Given the description of an element on the screen output the (x, y) to click on. 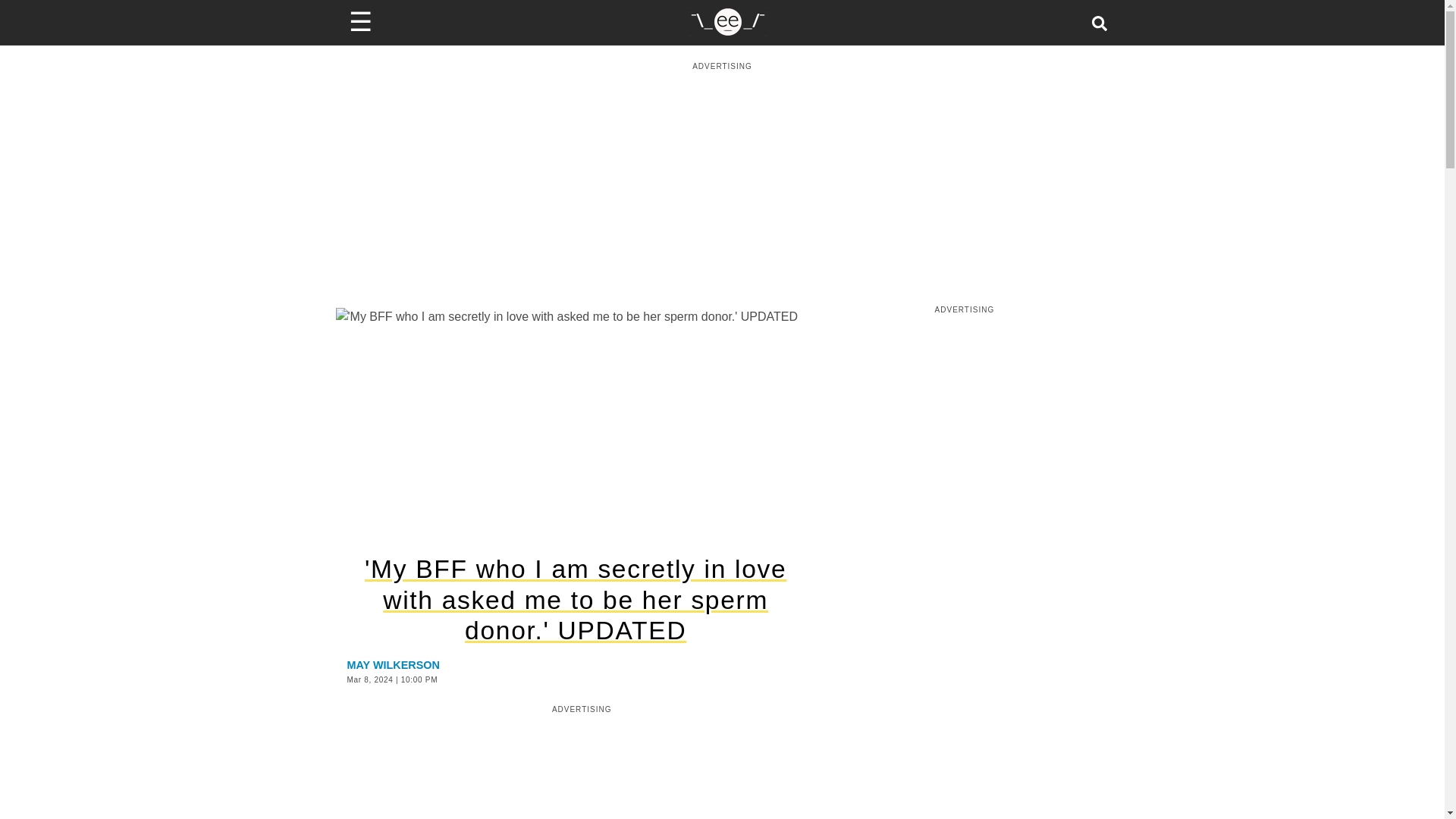
MAY WILKERSON (393, 664)
